Given the description of an element on the screen output the (x, y) to click on. 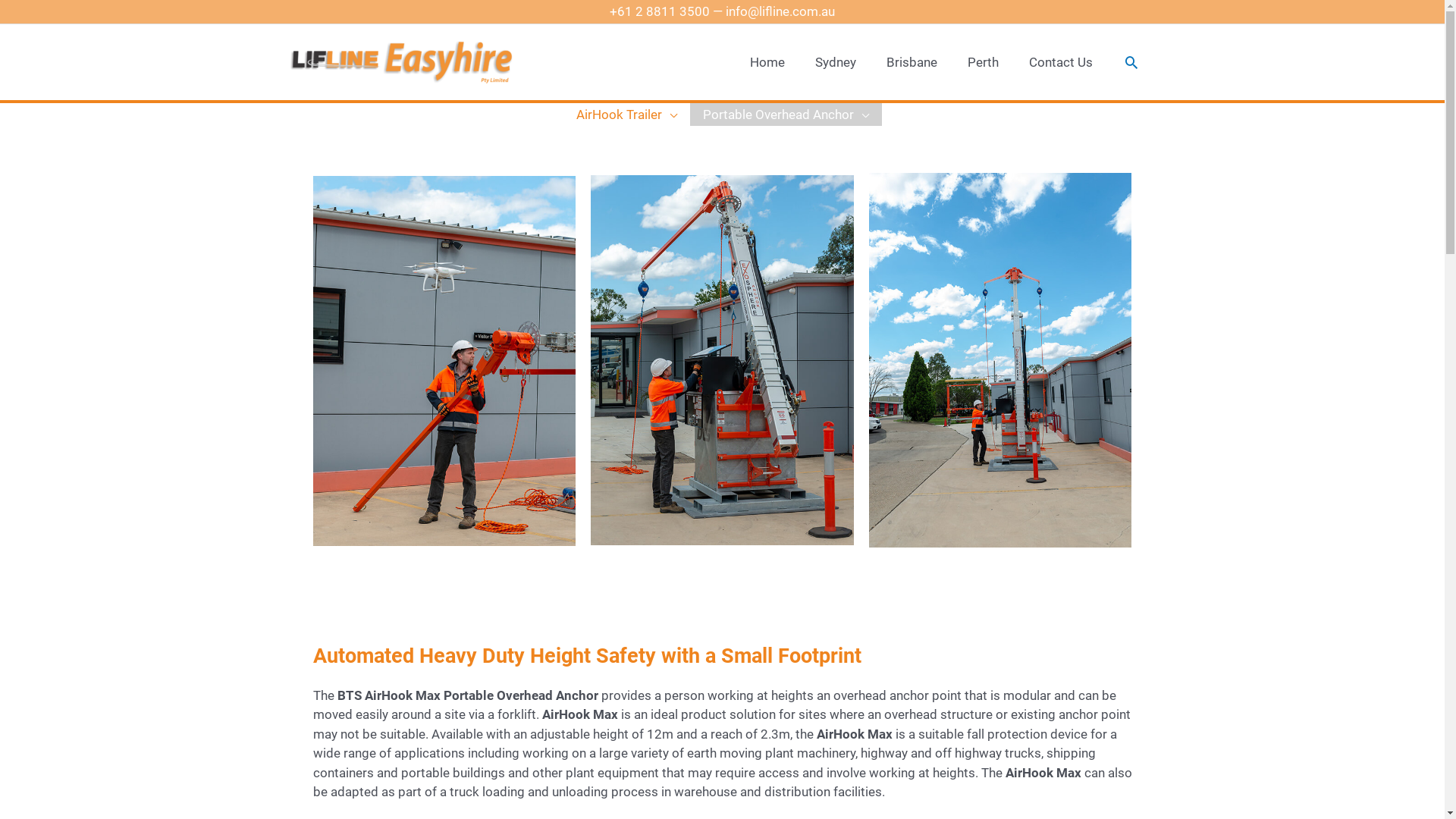
Portable Overhead Anchor Element type: text (785, 114)
Search Element type: text (1130, 61)
Perth Element type: text (982, 62)
Sydney Element type: text (834, 62)
Contact Us Element type: text (1060, 62)
Brisbane Element type: text (910, 62)
AirHook Trailer Element type: text (625, 114)
Home Element type: text (766, 62)
